Given the description of an element on the screen output the (x, y) to click on. 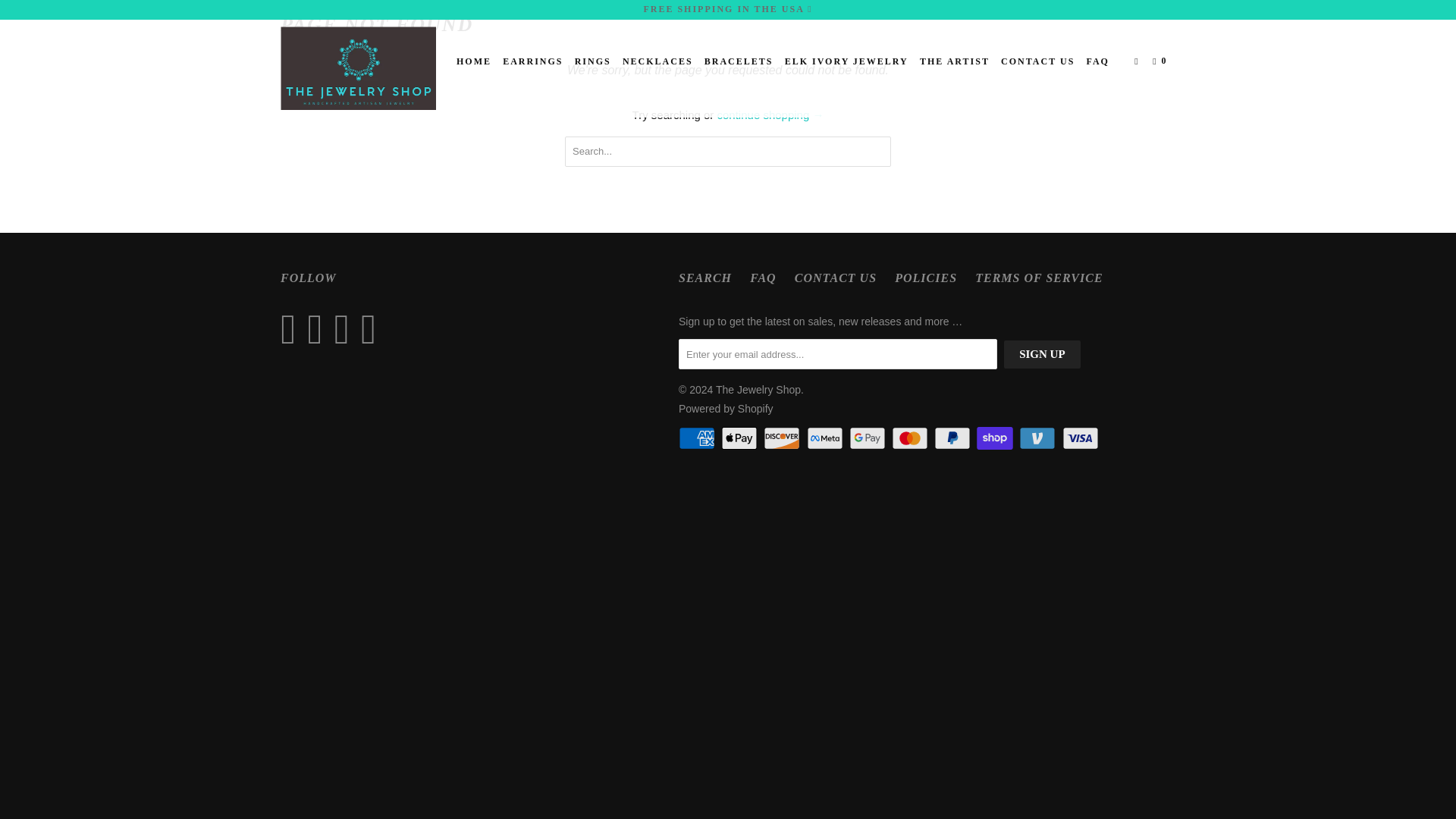
ELK IVORY JEWELRY (846, 61)
SEARCH (705, 277)
EARRINGS (532, 61)
CONTACT US (835, 277)
Email The Jewelry Shop (372, 329)
The Jewelry Shop on Pinterest (318, 329)
The Jewelry Shop (358, 67)
TERMS OF SERVICE (1038, 277)
The Jewelry Shop on Instagram (346, 329)
0 (1161, 61)
Sign Up (1042, 354)
Powered by Shopify (725, 408)
Sign Up (1042, 354)
THE ARTIST (954, 61)
The Jewelry Shop (758, 389)
